Given the description of an element on the screen output the (x, y) to click on. 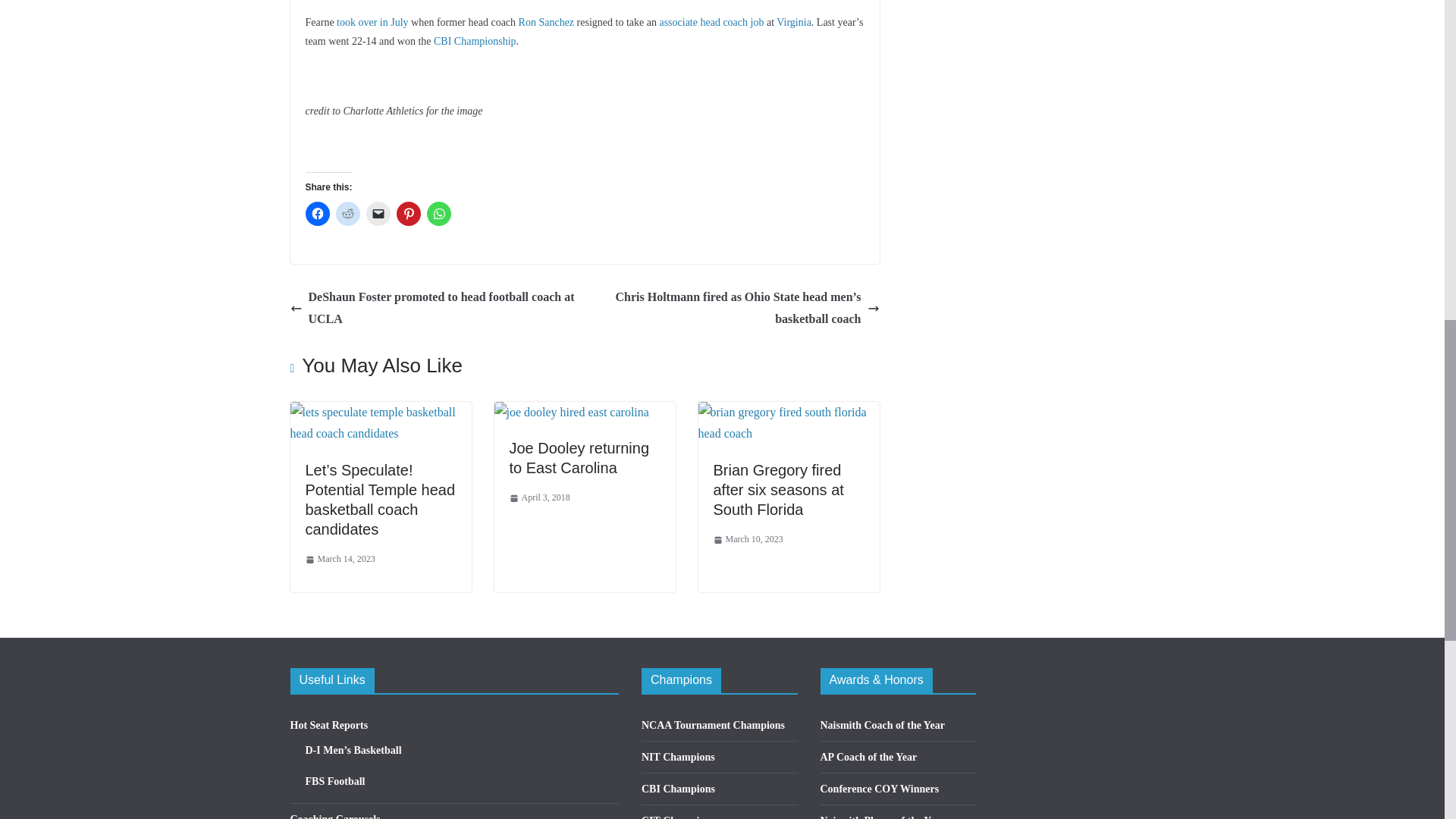
Click to share on Facebook (316, 213)
7:34 am (339, 559)
Click to email a link to a friend (377, 213)
Click to share on Pinterest (408, 213)
Click to share on Reddit (346, 213)
Click to share on WhatsApp (437, 213)
